Given the description of an element on the screen output the (x, y) to click on. 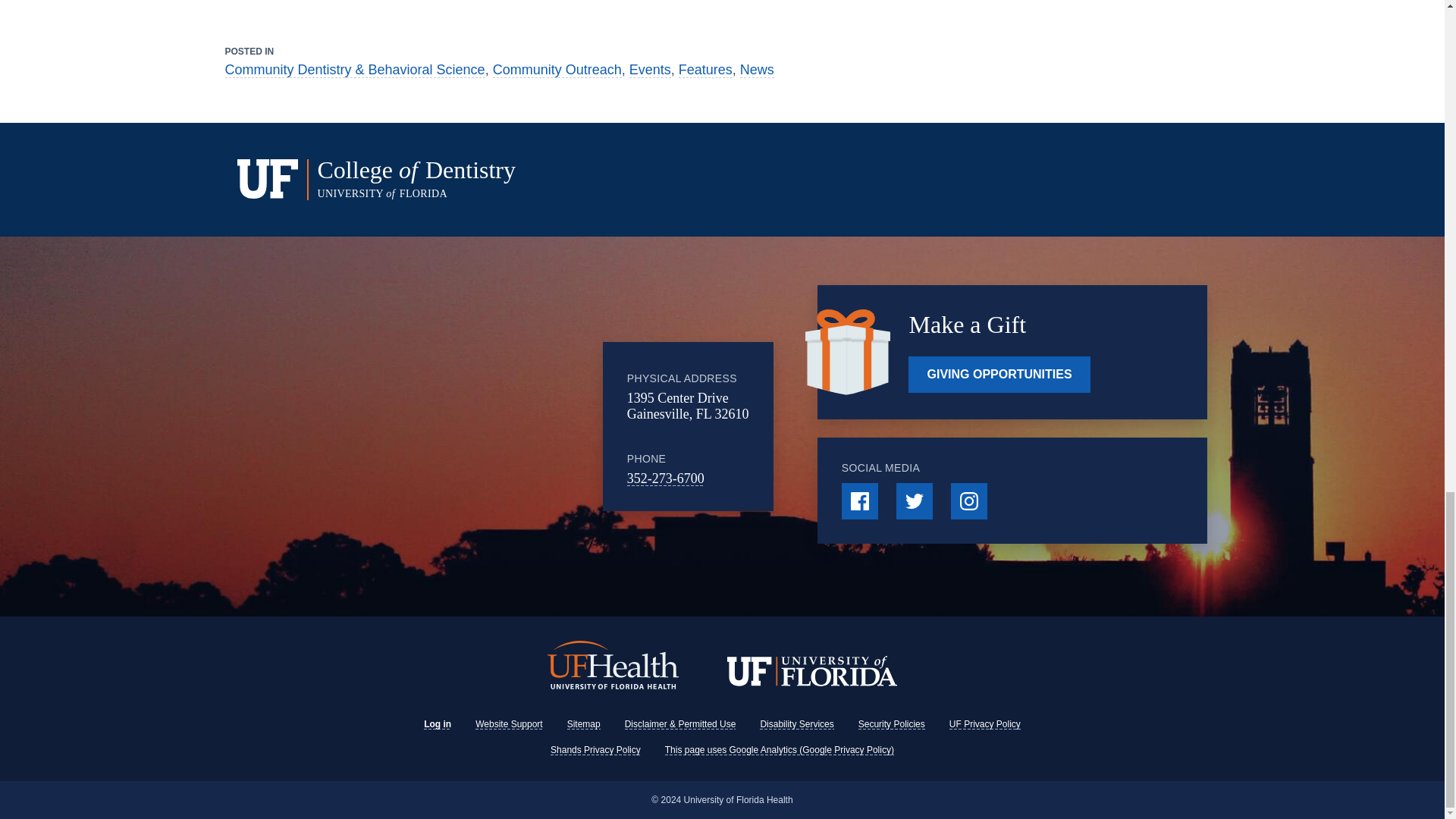
Log in (437, 724)
Shands Privacy Policy (595, 749)
Website Support (509, 724)
352-273-6700 (665, 478)
Google Maps Embed (478, 425)
Security Policies (891, 724)
Sitemap (583, 724)
UF Privacy Policy (984, 724)
Disability Services (796, 724)
